Given the description of an element on the screen output the (x, y) to click on. 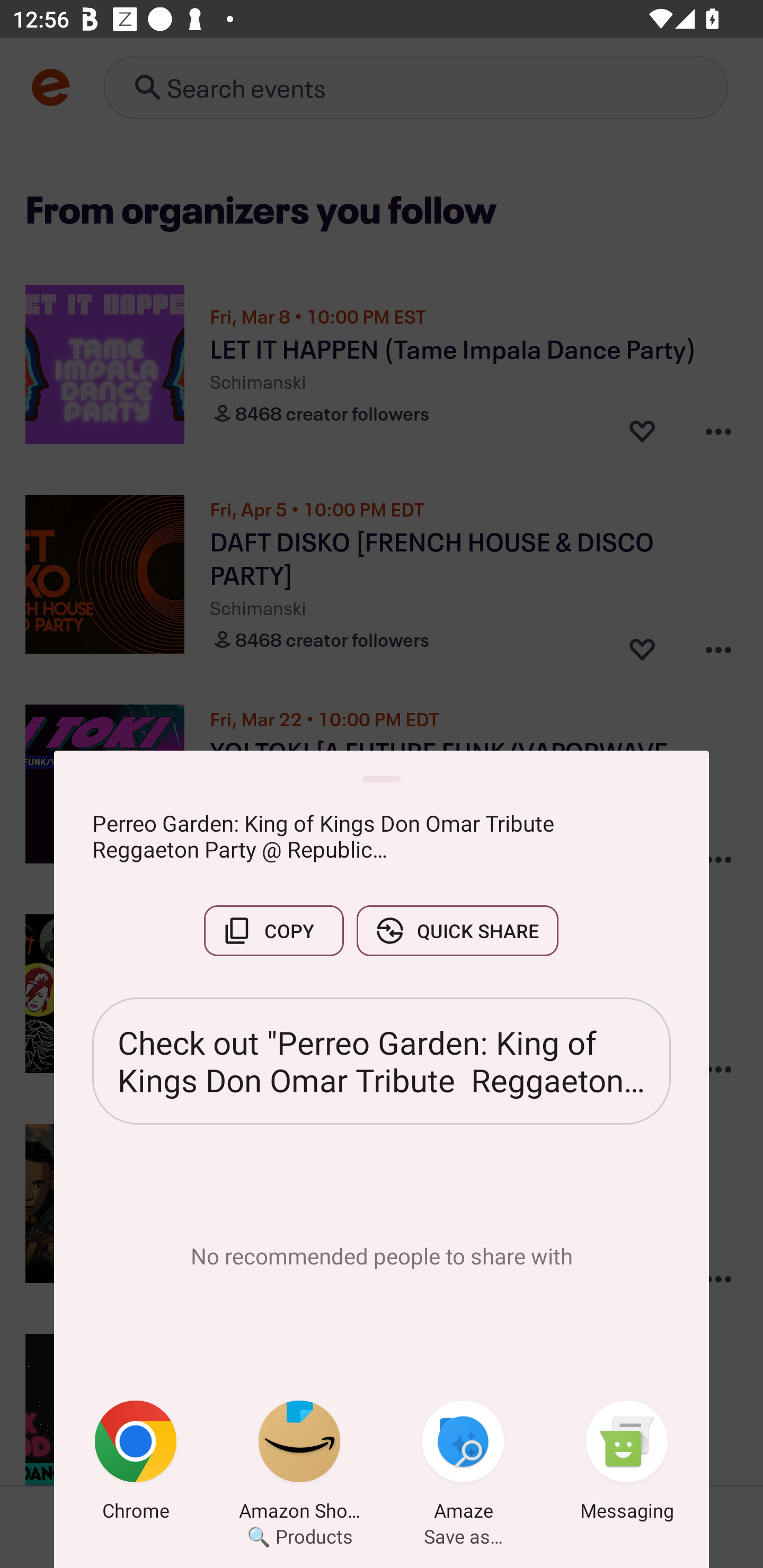
COPY (273, 930)
QUICK SHARE (457, 930)
Chrome (135, 1463)
Amazon Shopping 🔍 Products (299, 1463)
Amaze Save as… (463, 1463)
Messaging (626, 1463)
